Given the description of an element on the screen output the (x, y) to click on. 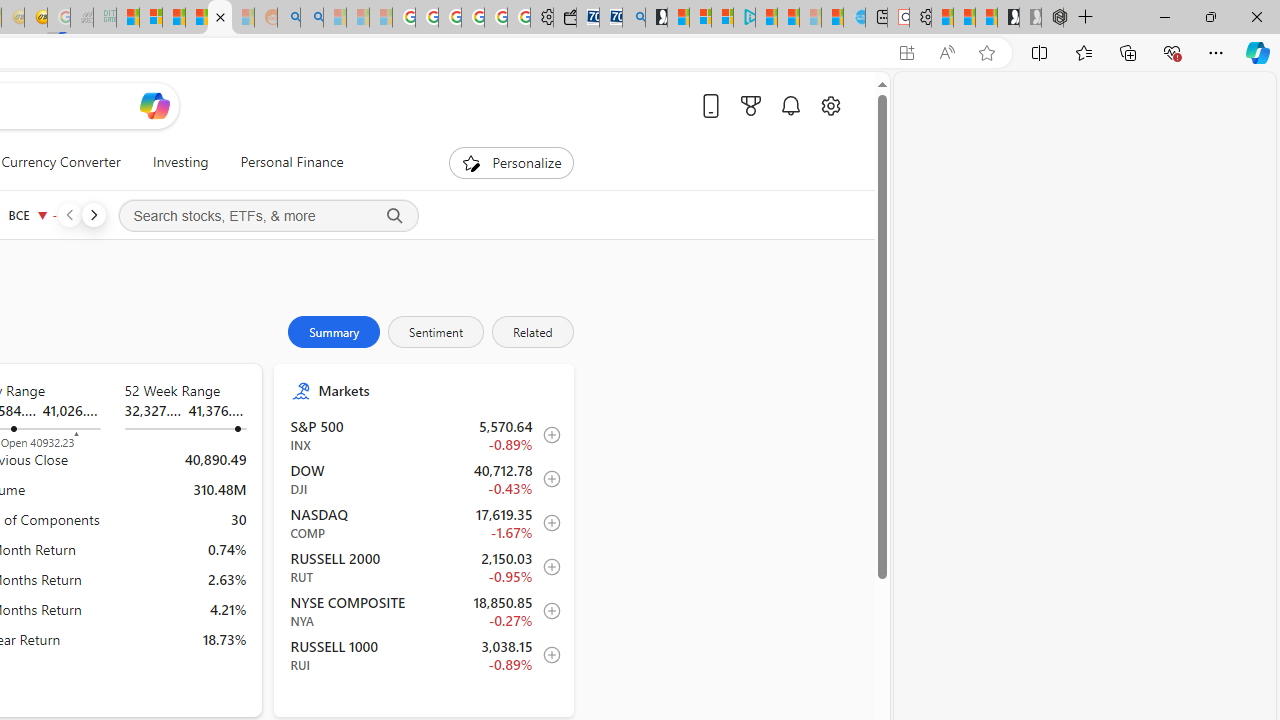
Currency Converter (61, 162)
